Given the description of an element on the screen output the (x, y) to click on. 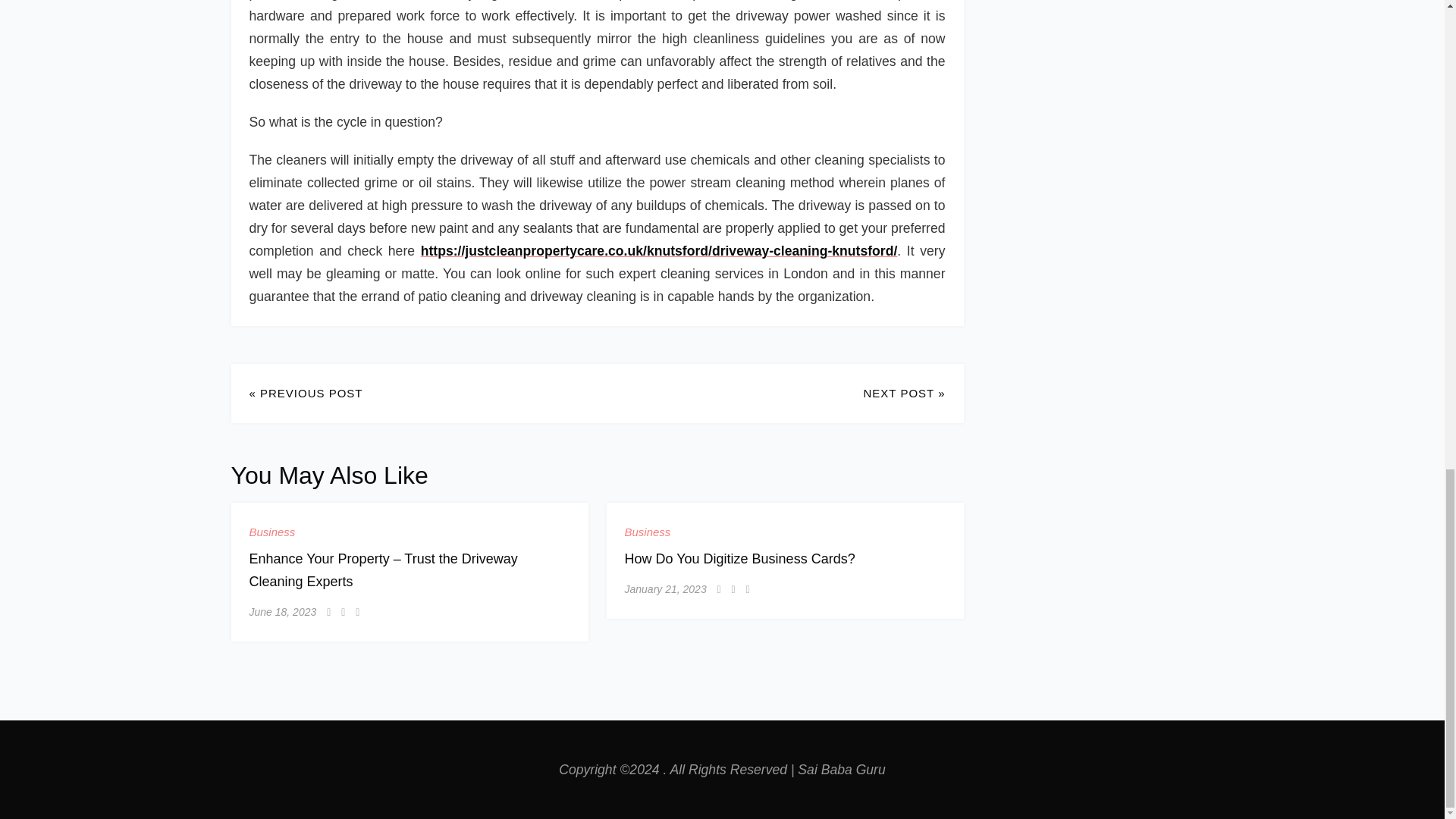
How Do You Digitize Business Cards? (740, 558)
June 18, 2023 (281, 612)
Business (647, 531)
Business (271, 531)
January 21, 2023 (665, 589)
